Given the description of an element on the screen output the (x, y) to click on. 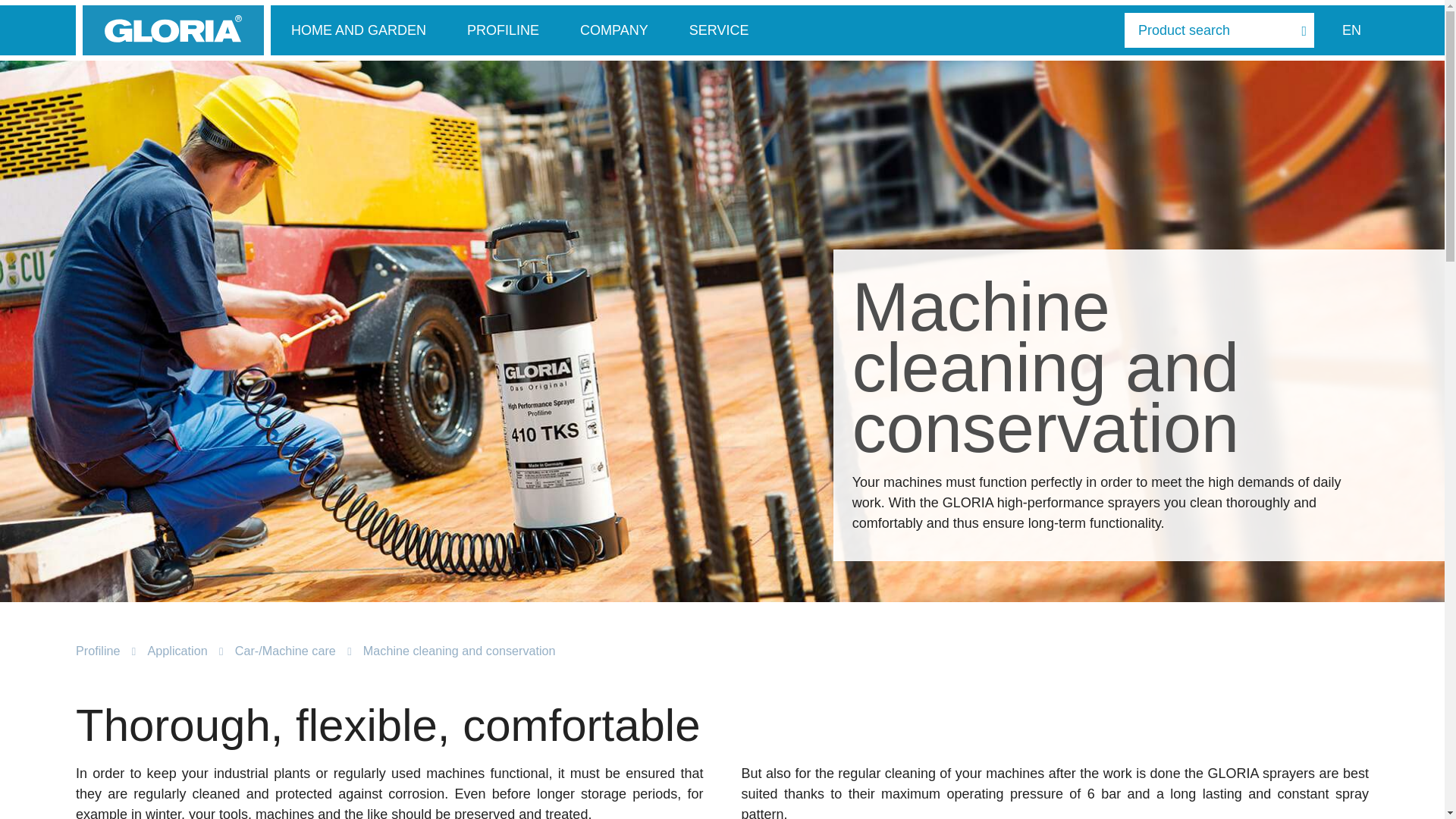
English (1351, 30)
Machine cleaning and conservation (459, 650)
Profiline (97, 650)
HOME AND GARDEN (357, 29)
Application (176, 650)
